Given the description of an element on the screen output the (x, y) to click on. 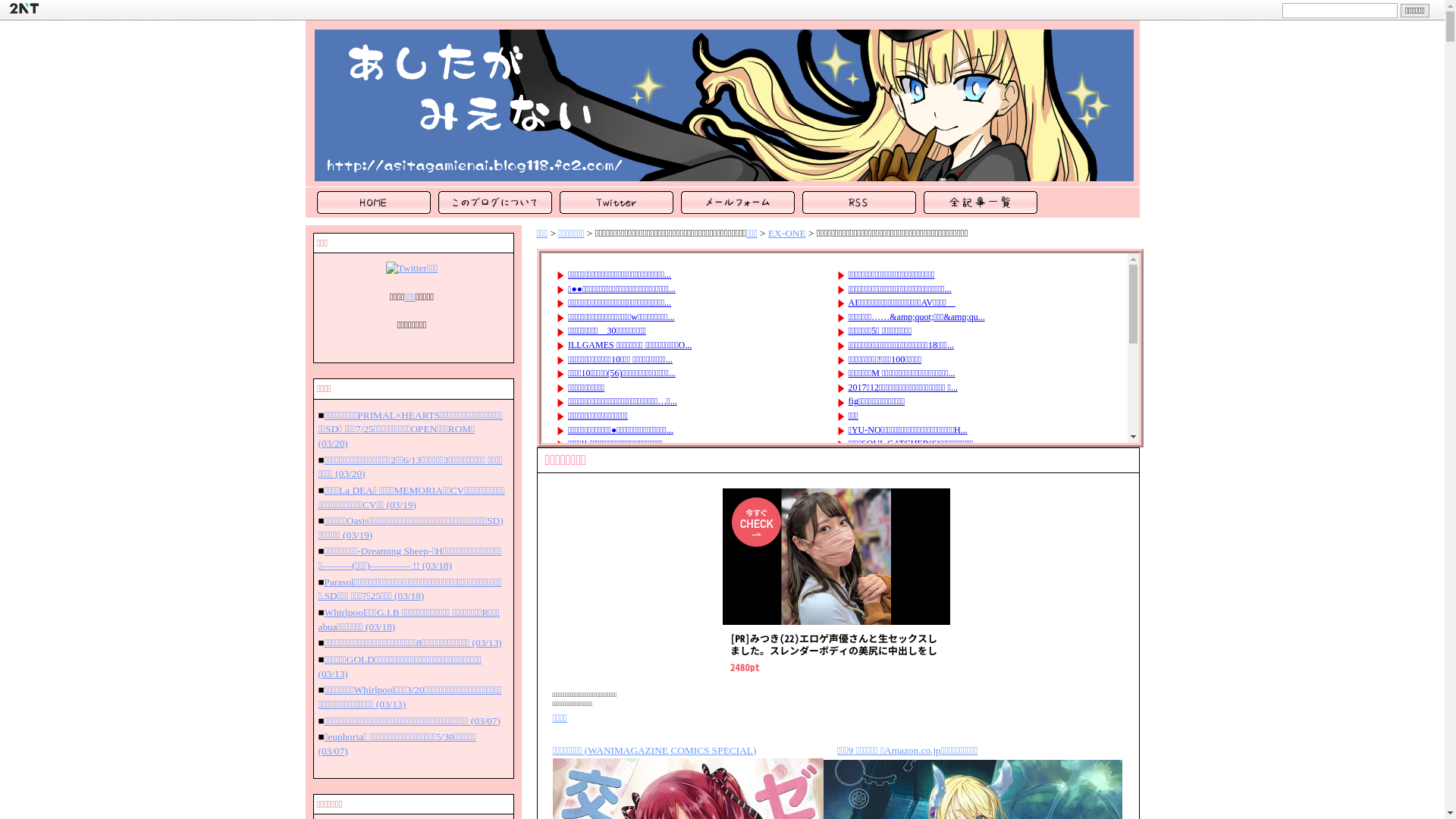
EX-ONE Element type: text (787, 232)
